Given the description of an element on the screen output the (x, y) to click on. 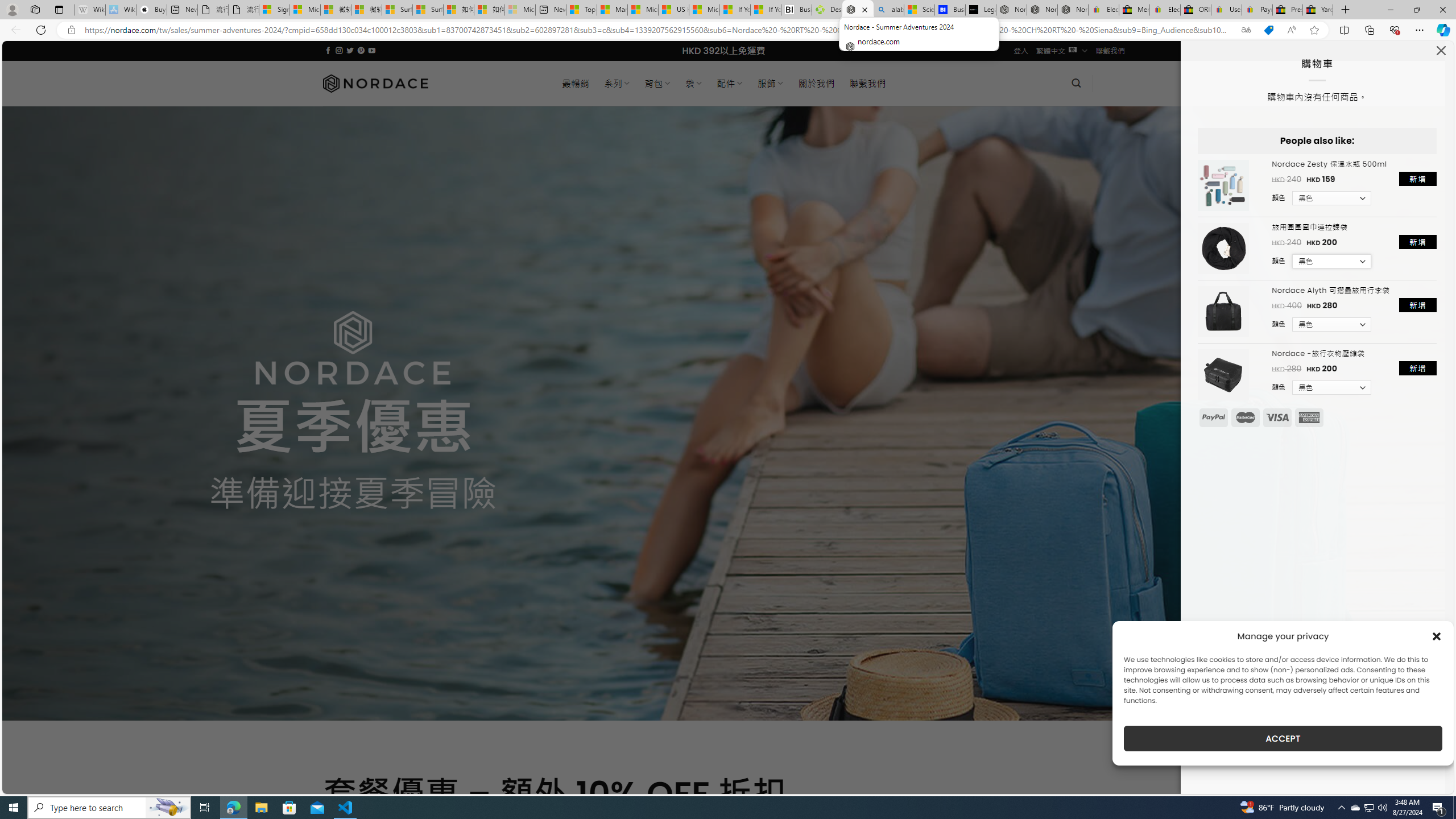
Class: feather feather-x (1440, 50)
Sign in to your Microsoft account (274, 9)
Show translate options (1245, 29)
Wikipedia - Sleeping (89, 9)
Microsoft Services Agreement (304, 9)
Marine life - MSN (611, 9)
